Given the description of an element on the screen output the (x, y) to click on. 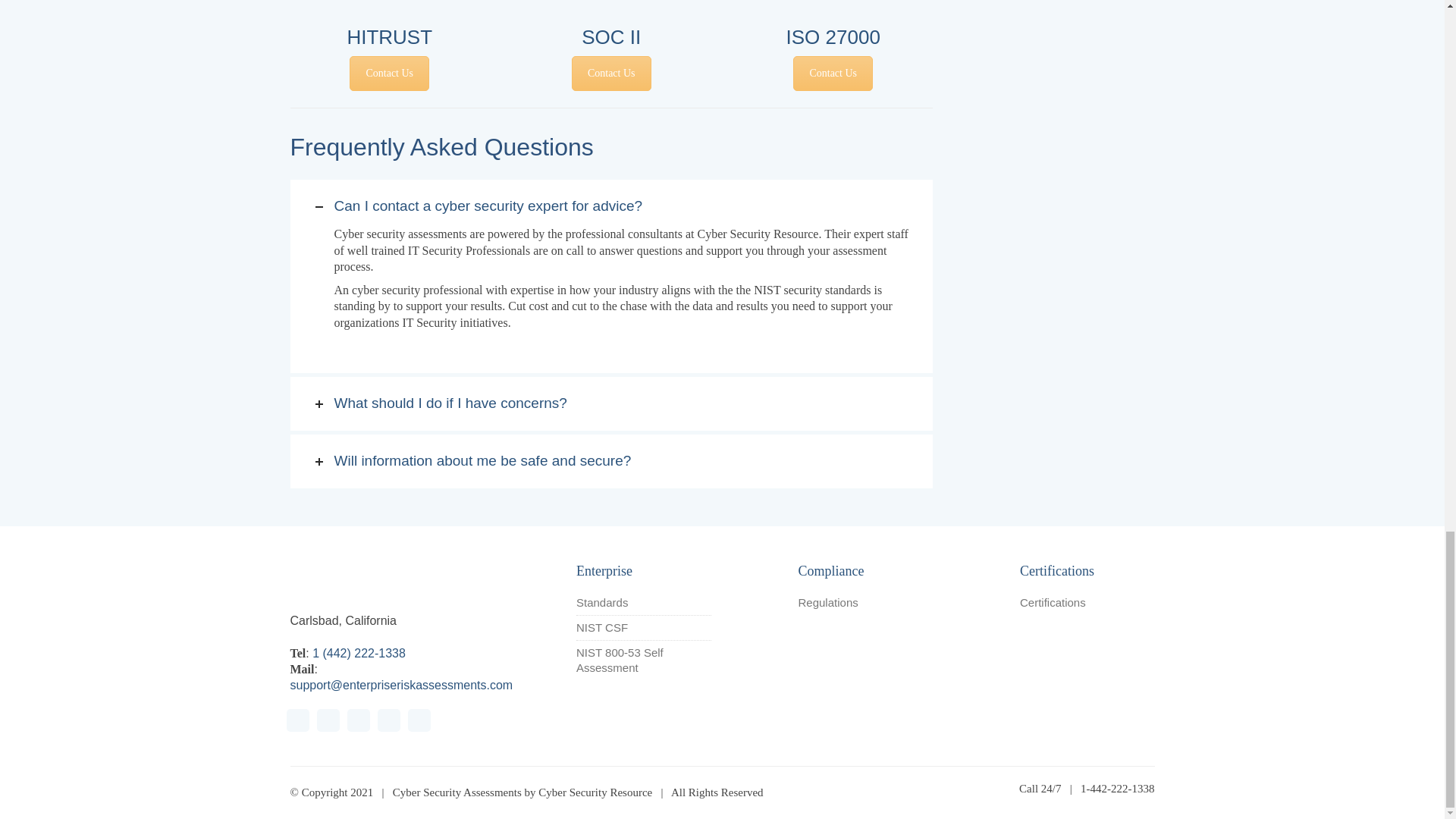
YouTube (328, 720)
Contact Us (389, 73)
LinkedIn (388, 720)
Contact Us (611, 73)
Standards (601, 602)
NIST 800-53 Self Assessment (643, 660)
Facebook (297, 720)
Contact Us (832, 73)
NIST CSF (601, 627)
Twitter (358, 720)
